Given the description of an element on the screen output the (x, y) to click on. 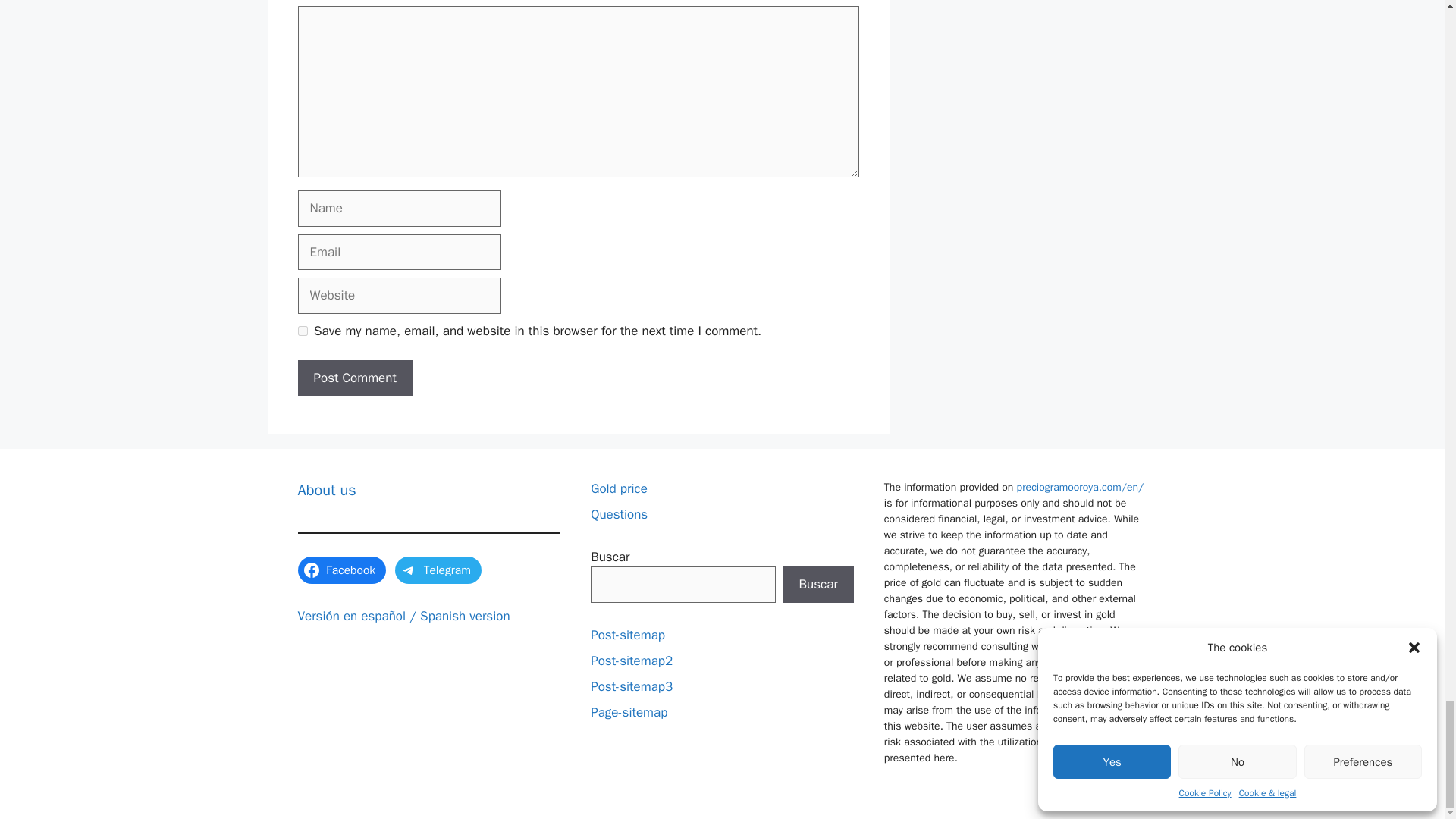
Post Comment (354, 378)
yes (302, 330)
